Given the description of an element on the screen output the (x, y) to click on. 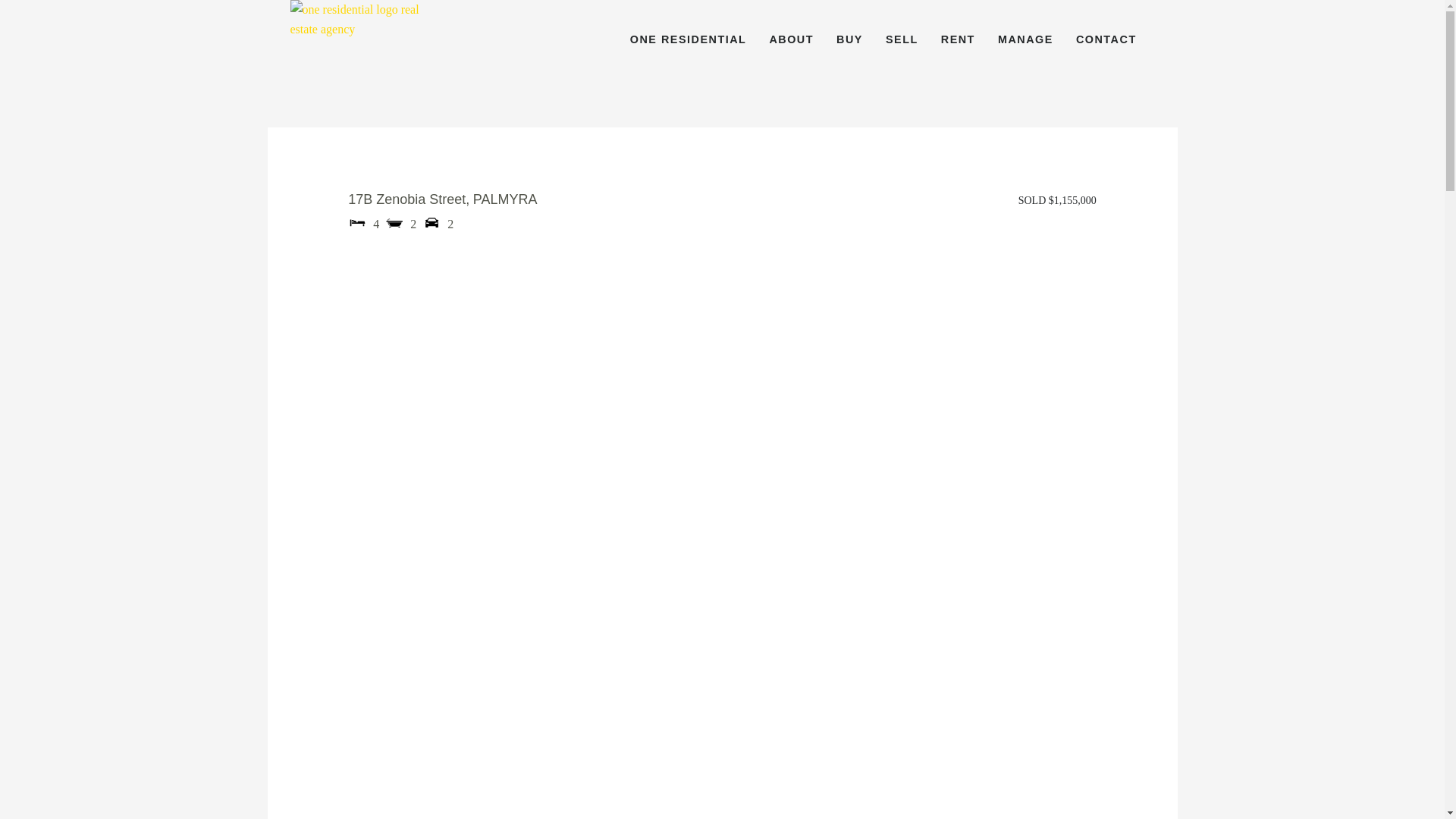
CONTACT (1106, 39)
SELL (901, 39)
RENT (957, 39)
MANAGE (1025, 39)
Parking Spaces (431, 221)
Bedrooms (356, 221)
BUY (849, 39)
ONE RESIDENTIAL (688, 39)
ABOUT (791, 39)
Bathrooms (394, 221)
